Given the description of an element on the screen output the (x, y) to click on. 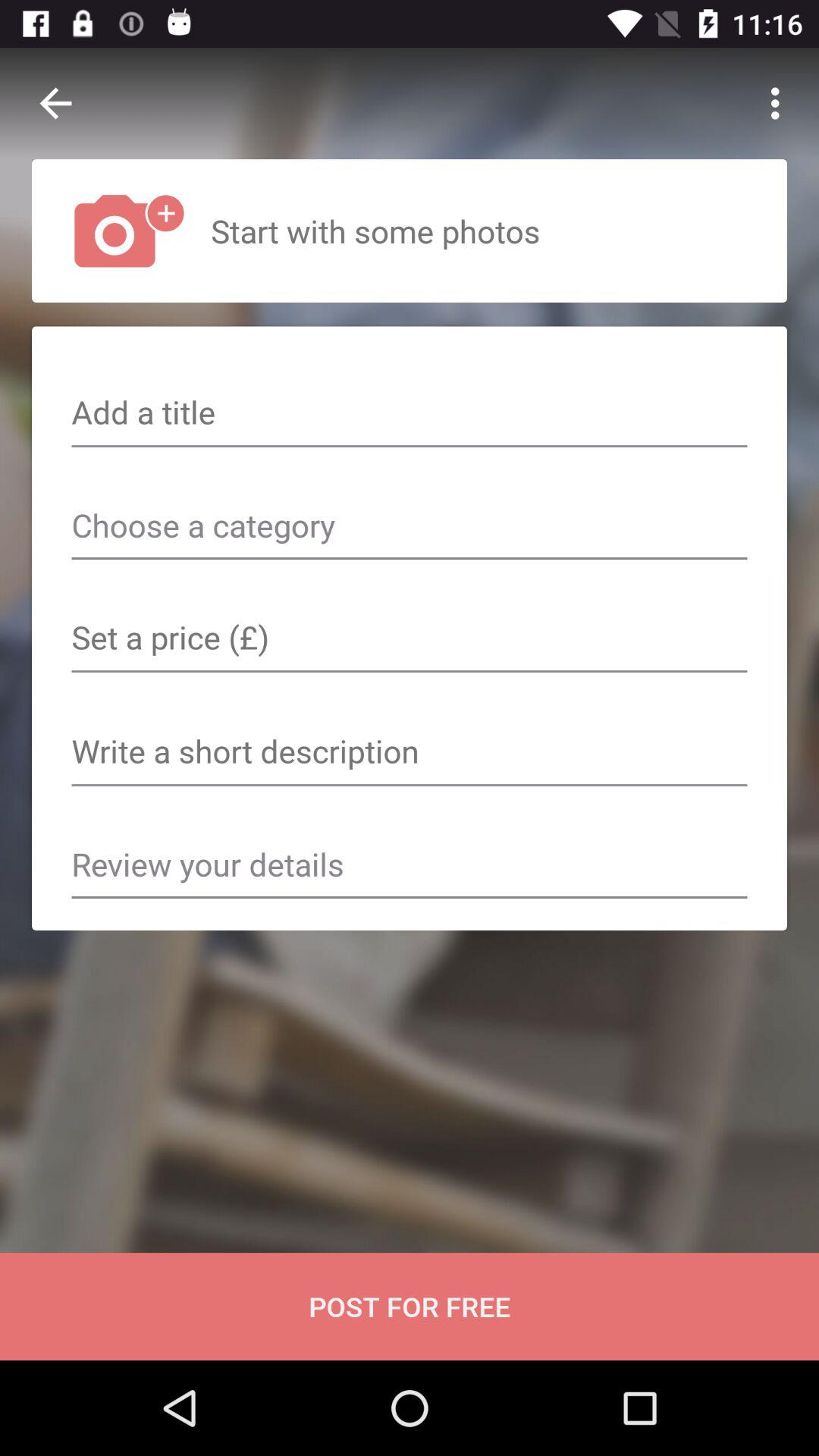
add a title (409, 413)
